Given the description of an element on the screen output the (x, y) to click on. 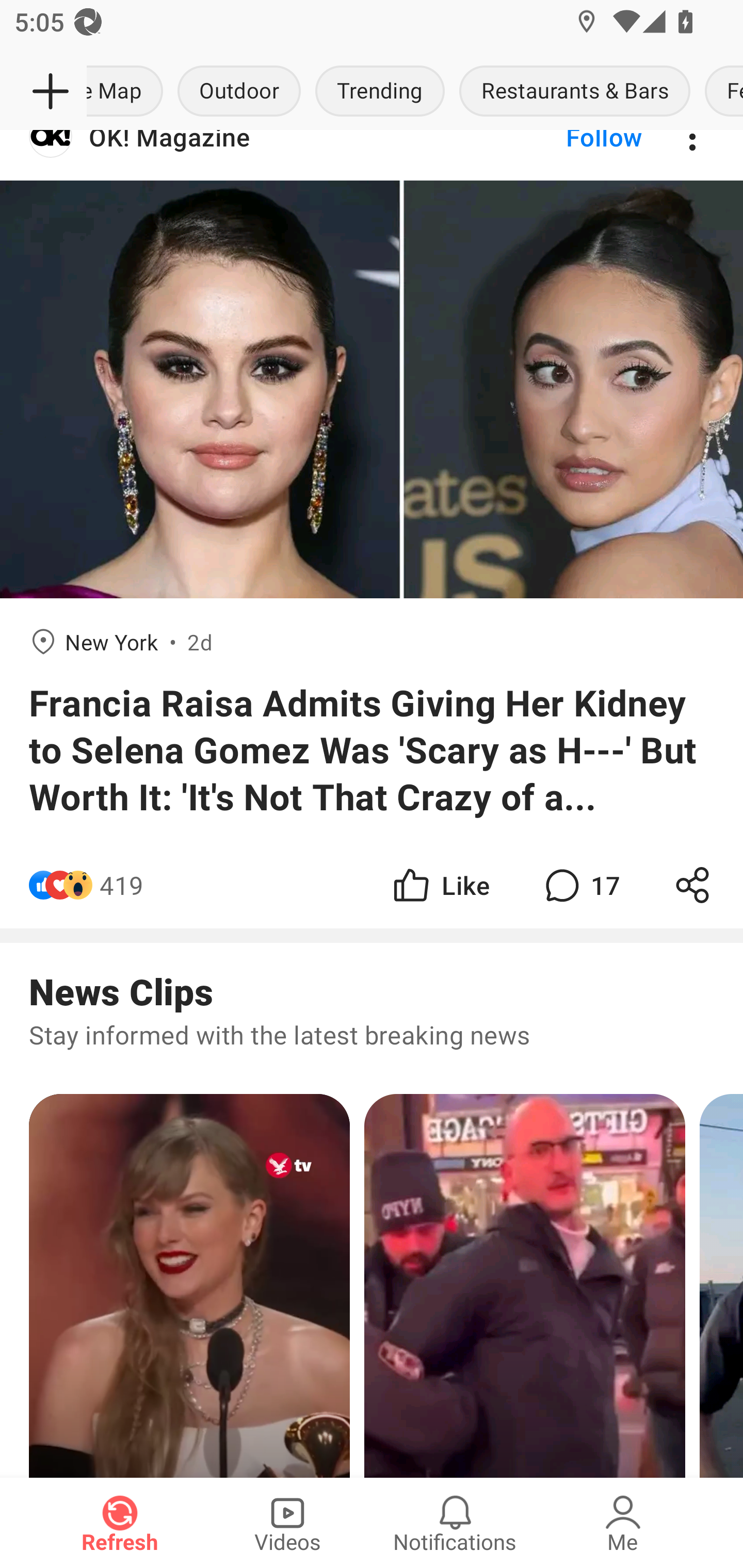
Outdoor (239, 91)
Trending (379, 91)
Restaurants & Bars (574, 91)
419 (121, 885)
Like (439, 885)
17 (579, 885)
Videos (287, 1522)
Notifications (455, 1522)
Me (622, 1522)
